Given the description of an element on the screen output the (x, y) to click on. 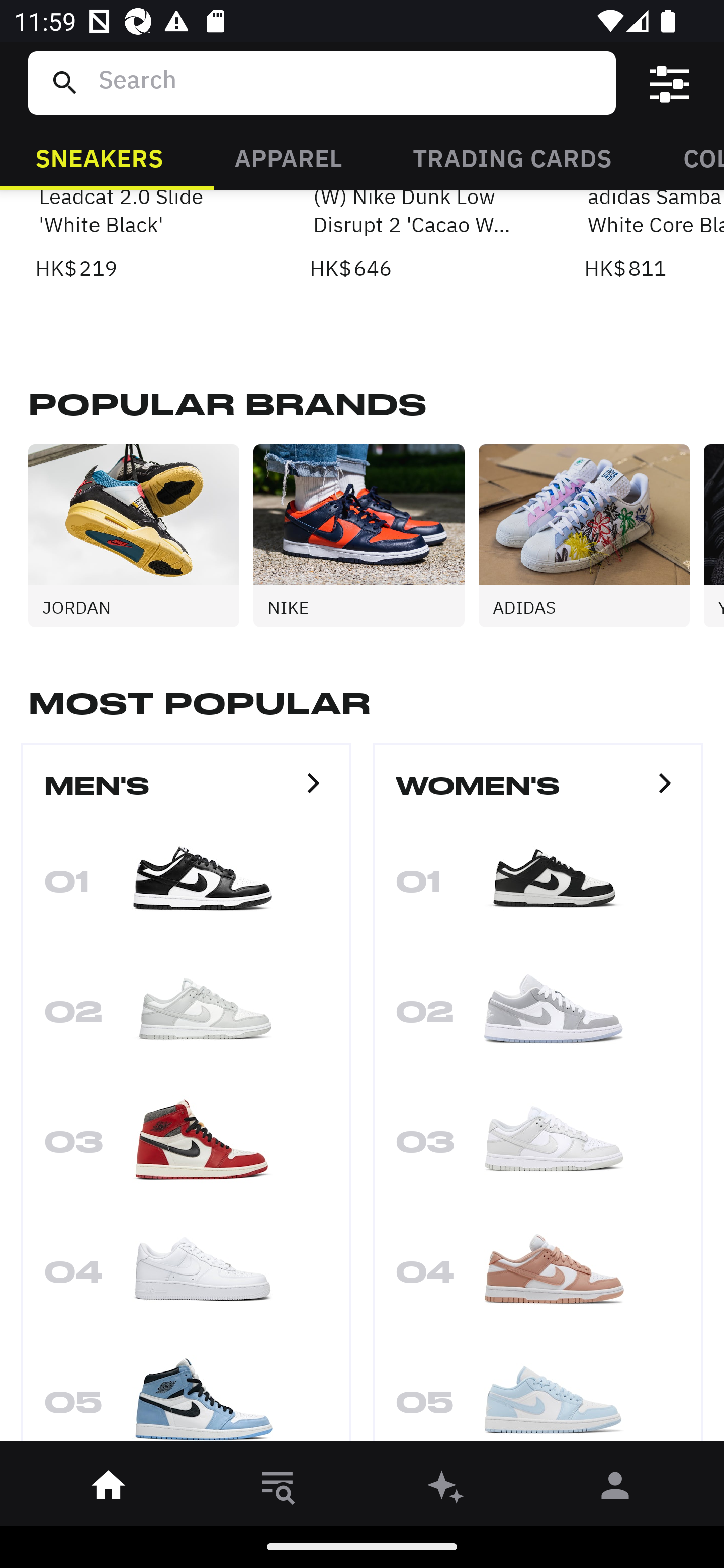
Search (349, 82)
 (669, 82)
SNEAKERS (99, 156)
APPAREL (287, 156)
TRADING CARDS (512, 156)
JORDAN (140, 535)
NIKE (365, 535)
ADIDAS (590, 535)
MEN'S  (186, 794)
WOMEN'S  (538, 794)
01 (186, 888)
01 (538, 888)
02 (186, 1018)
02 (538, 1018)
03 (186, 1148)
03 (538, 1148)
04 (186, 1278)
04 (538, 1278)
05 (186, 1397)
05 (538, 1397)
󰋜 (108, 1488)
󱎸 (277, 1488)
󰫢 (446, 1488)
󰀄 (615, 1488)
